Given the description of an element on the screen output the (x, y) to click on. 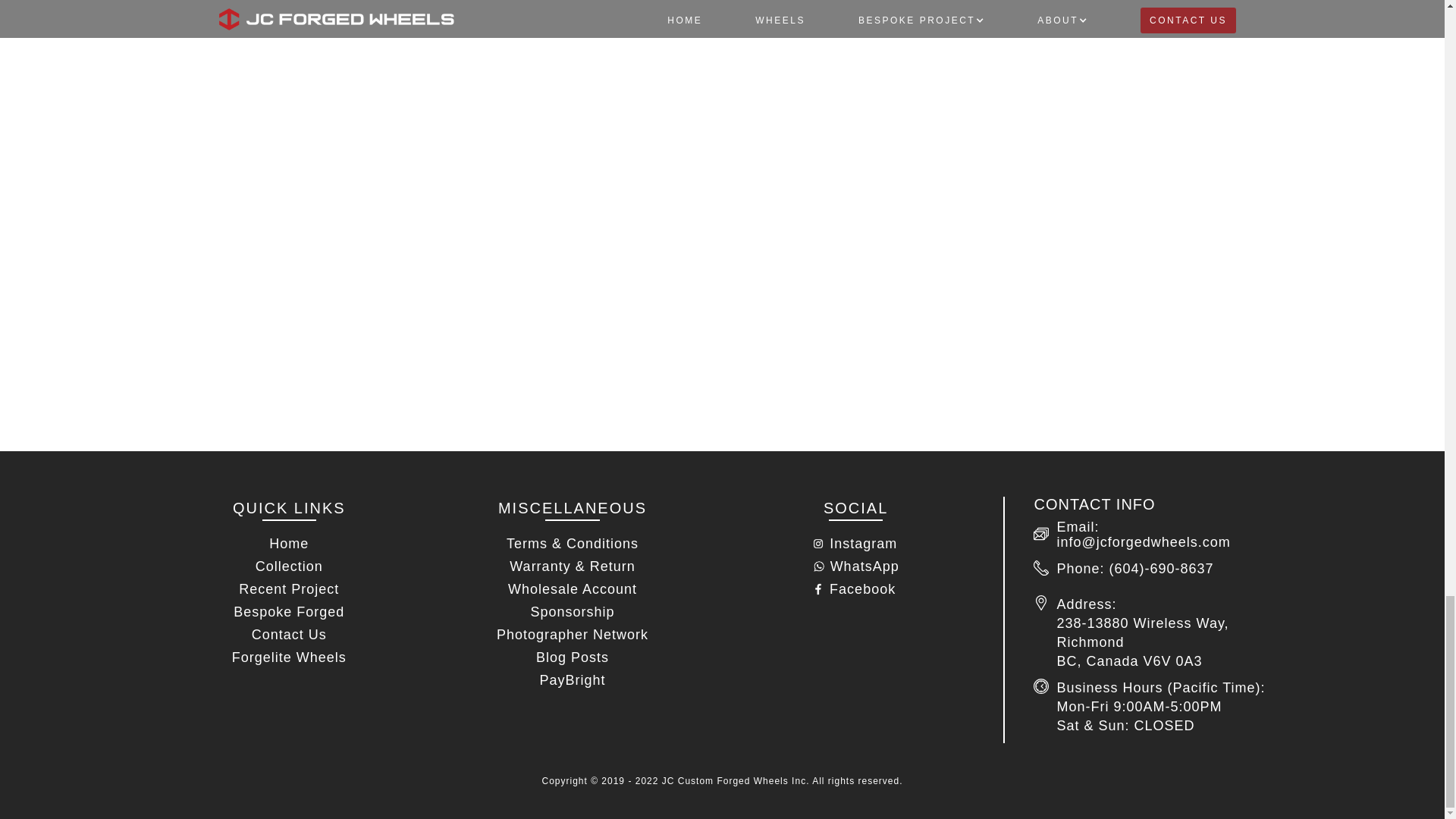
Photographer Network (572, 634)
Collection (288, 566)
Blog Posts (572, 657)
Contact Us (288, 634)
Facebook (862, 584)
Home (288, 543)
Sponsorship (571, 611)
Wholesale Account (571, 589)
Forgelite Wheels (289, 657)
Bespoke Forged (288, 611)
Recent Project (288, 589)
PayBright (571, 679)
Instagram (863, 539)
